Given the description of an element on the screen output the (x, y) to click on. 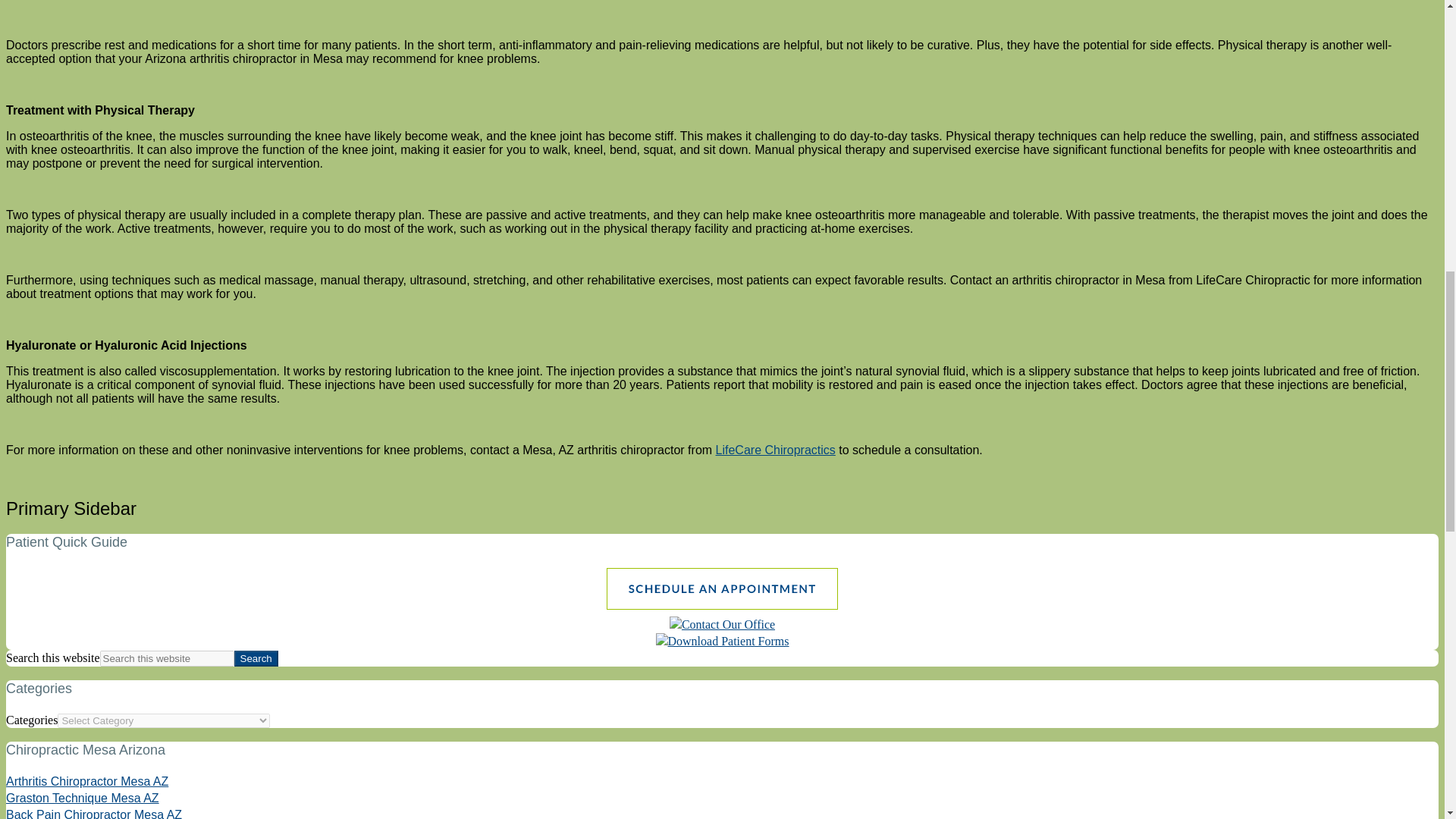
Contact Our Office (721, 624)
Arthritis Chiropractor Mesa AZ (86, 780)
Graston Technique Mesa AZ (81, 797)
Search (256, 658)
Download Patient Forms (722, 640)
Search (256, 658)
Search (256, 658)
LifeCare Chiropractics (775, 449)
Back Pain Chiropractor Mesa AZ (93, 813)
Schedule An Appointment (722, 607)
